Given the description of an element on the screen output the (x, y) to click on. 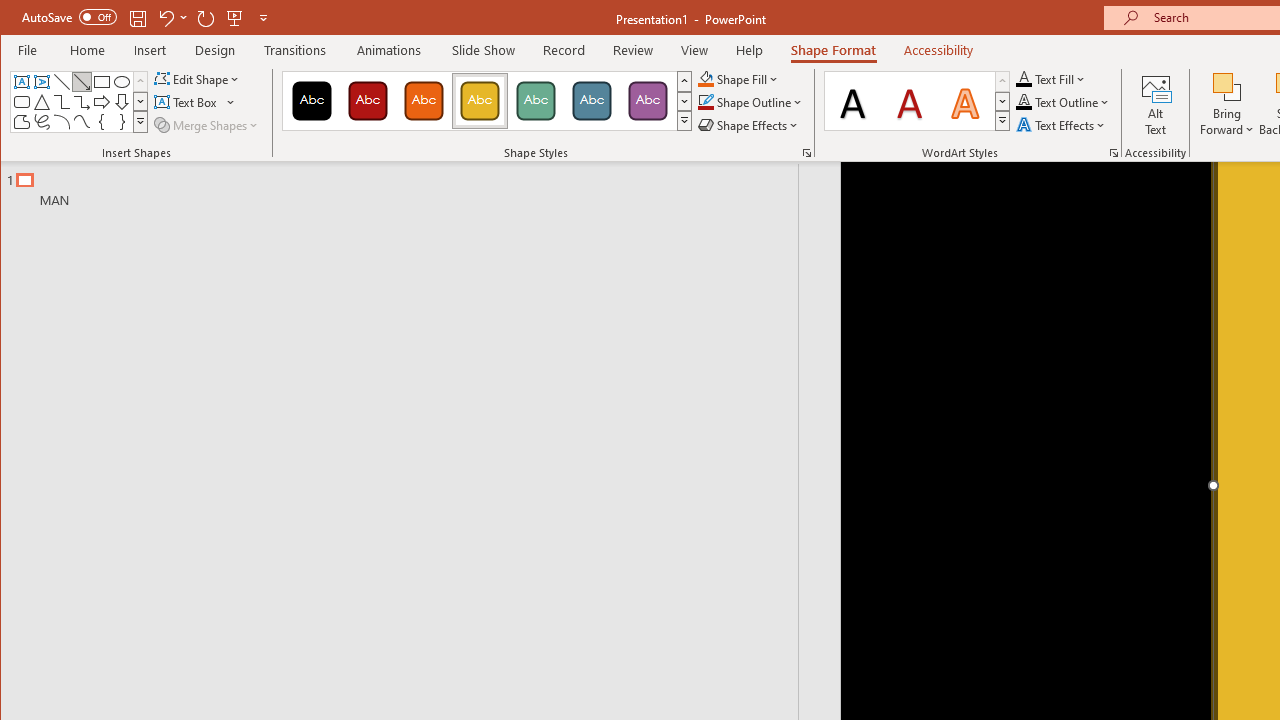
Text Fill RGB(0, 0, 0) (1023, 78)
Colored Fill - Purple, Accent 6 (647, 100)
Line Arrow (81, 82)
Connector: Elbow (61, 102)
